Given the description of an element on the screen output the (x, y) to click on. 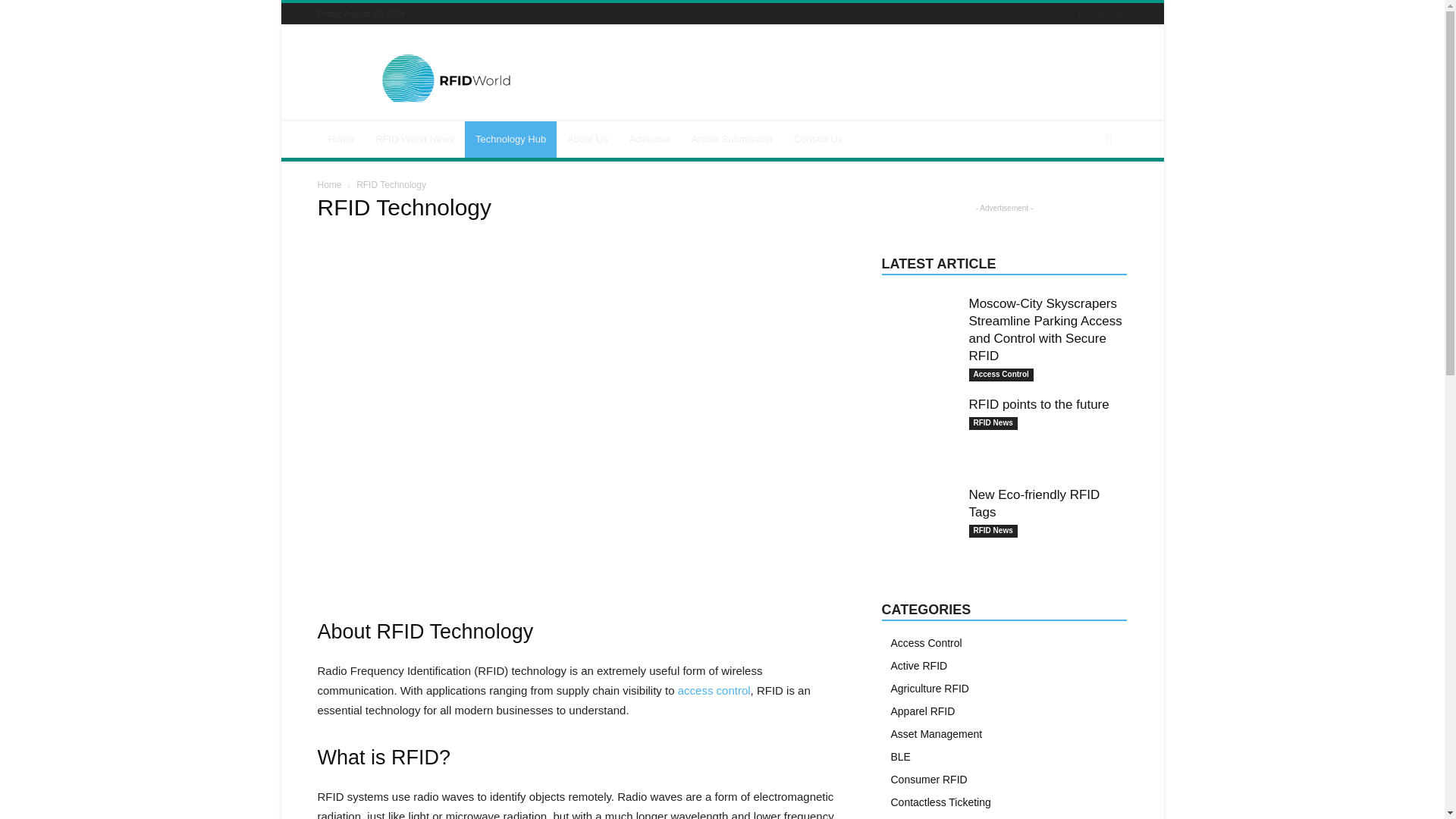
RFID points to the future (918, 416)
RFID points to the future (1039, 404)
New Eco-friendly RFID Tags (918, 507)
About Us (586, 139)
Home (341, 139)
Advertise (649, 139)
RFID World News (414, 139)
Technology Hub (510, 139)
